Given the description of an element on the screen output the (x, y) to click on. 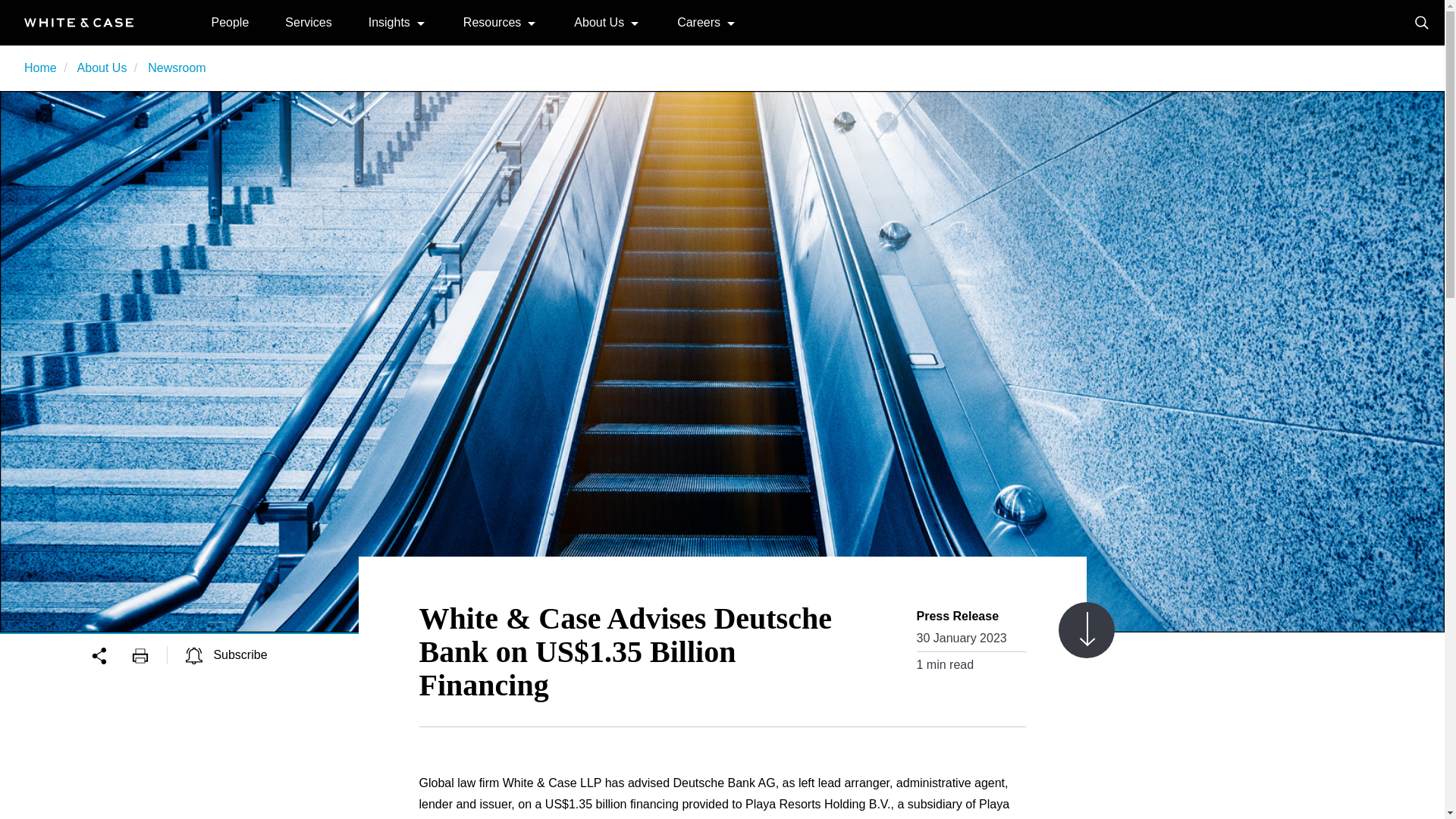
Home (40, 67)
Careers (698, 21)
Services (308, 21)
Print (149, 654)
About Us (102, 67)
Insights (389, 21)
Home (78, 22)
People (229, 21)
Newsroom (176, 67)
Subscribe (226, 654)
Resources (492, 21)
About Us (598, 21)
Subscribe (226, 654)
Share (111, 654)
